Given the description of an element on the screen output the (x, y) to click on. 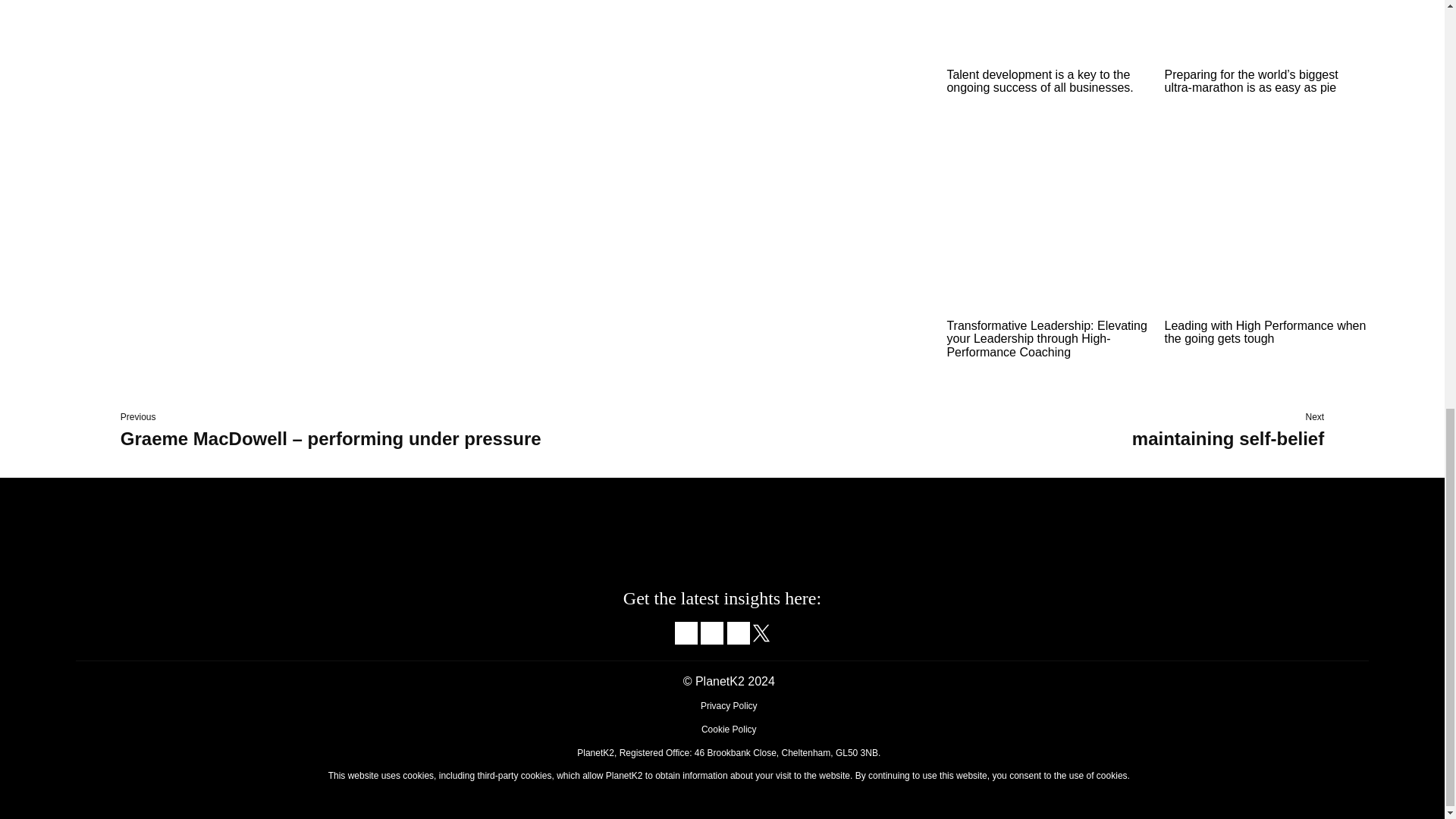
Leading with High Performance when the going gets tough (1264, 332)
maintaining self-belief (1227, 438)
Previous (137, 416)
Cookie Policy (729, 728)
Next (1315, 416)
Privacy Policy (728, 706)
